Given the description of an element on the screen output the (x, y) to click on. 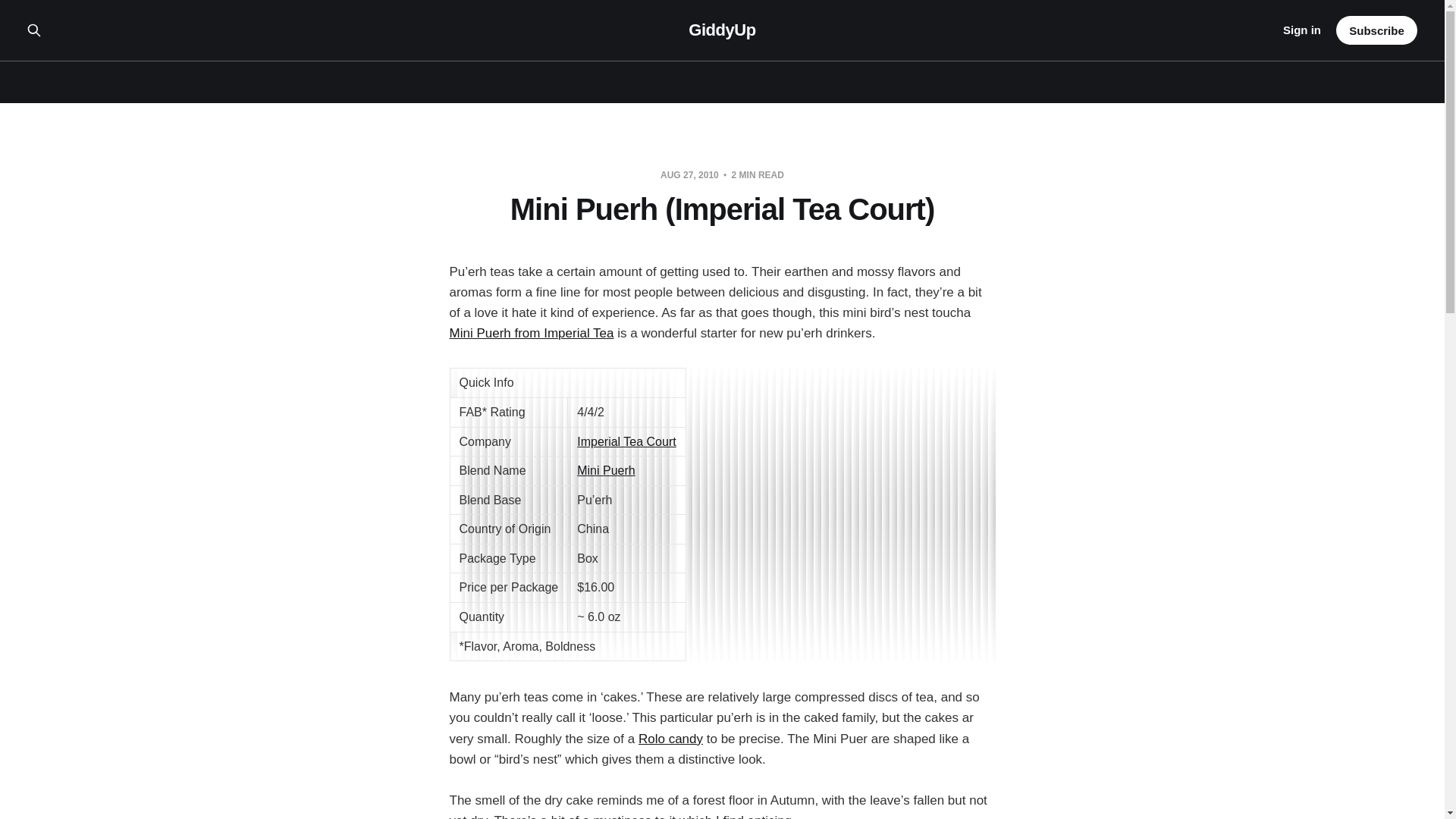
GiddyUp (721, 30)
Mini Puerh from Imperial Tea (530, 332)
Subscribe (1376, 30)
Mini Puerh from Imperial Tea Court (605, 470)
Imperial Tea Court (625, 440)
Mini Puerh (605, 470)
Rolo candy from Hershey's (671, 739)
Imperial Tea Court (625, 440)
Mini Puerh from Imperial Tea Court (530, 332)
Rolo candy (671, 739)
